Given the description of an element on the screen output the (x, y) to click on. 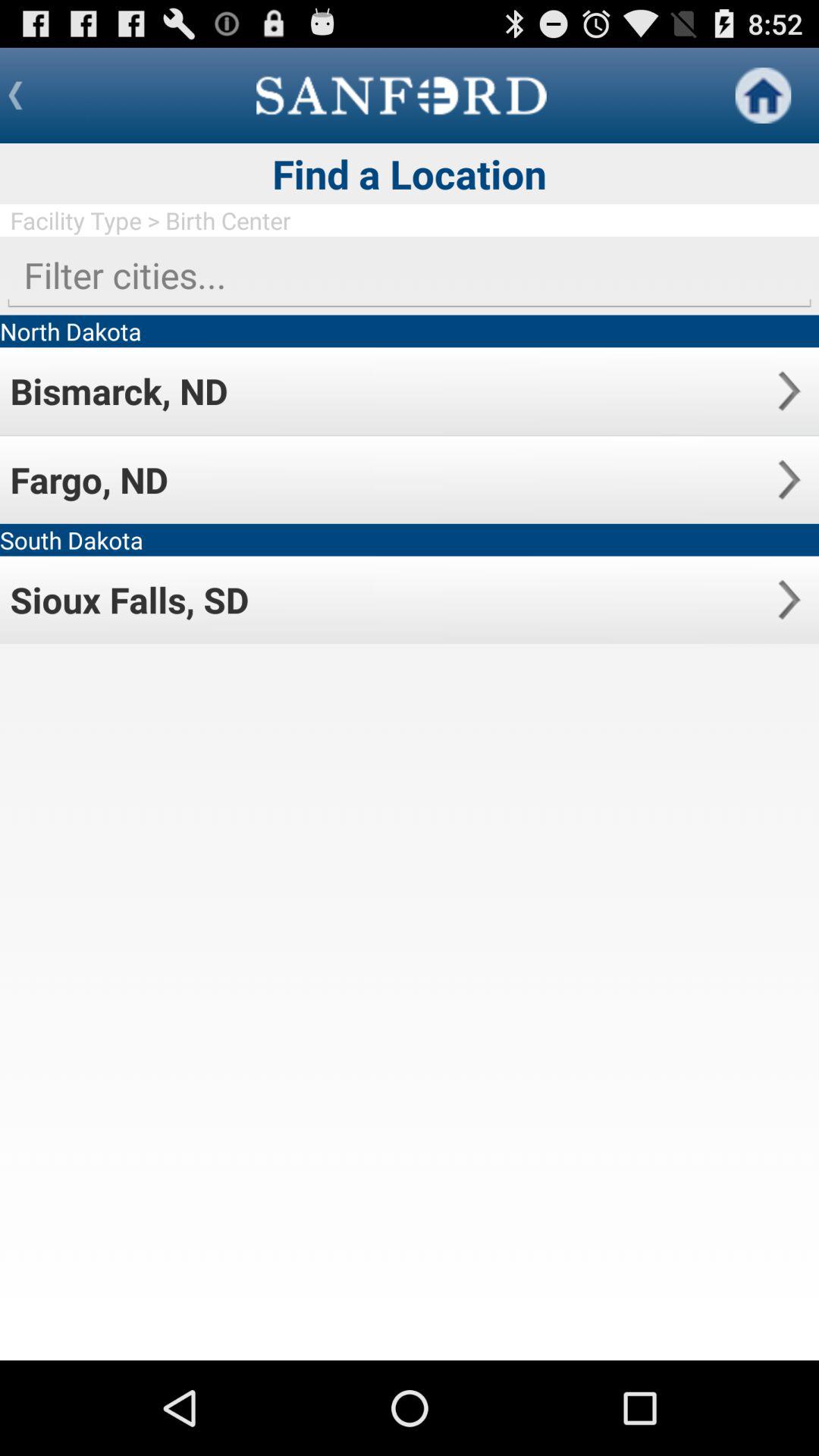
click on the side arrow beside sd (789, 599)
the second arrow button on the page (789, 479)
select the home icon which is on top right side (763, 95)
choose the right arrow icon right side of bismarcknd (789, 390)
